Given the description of an element on the screen output the (x, y) to click on. 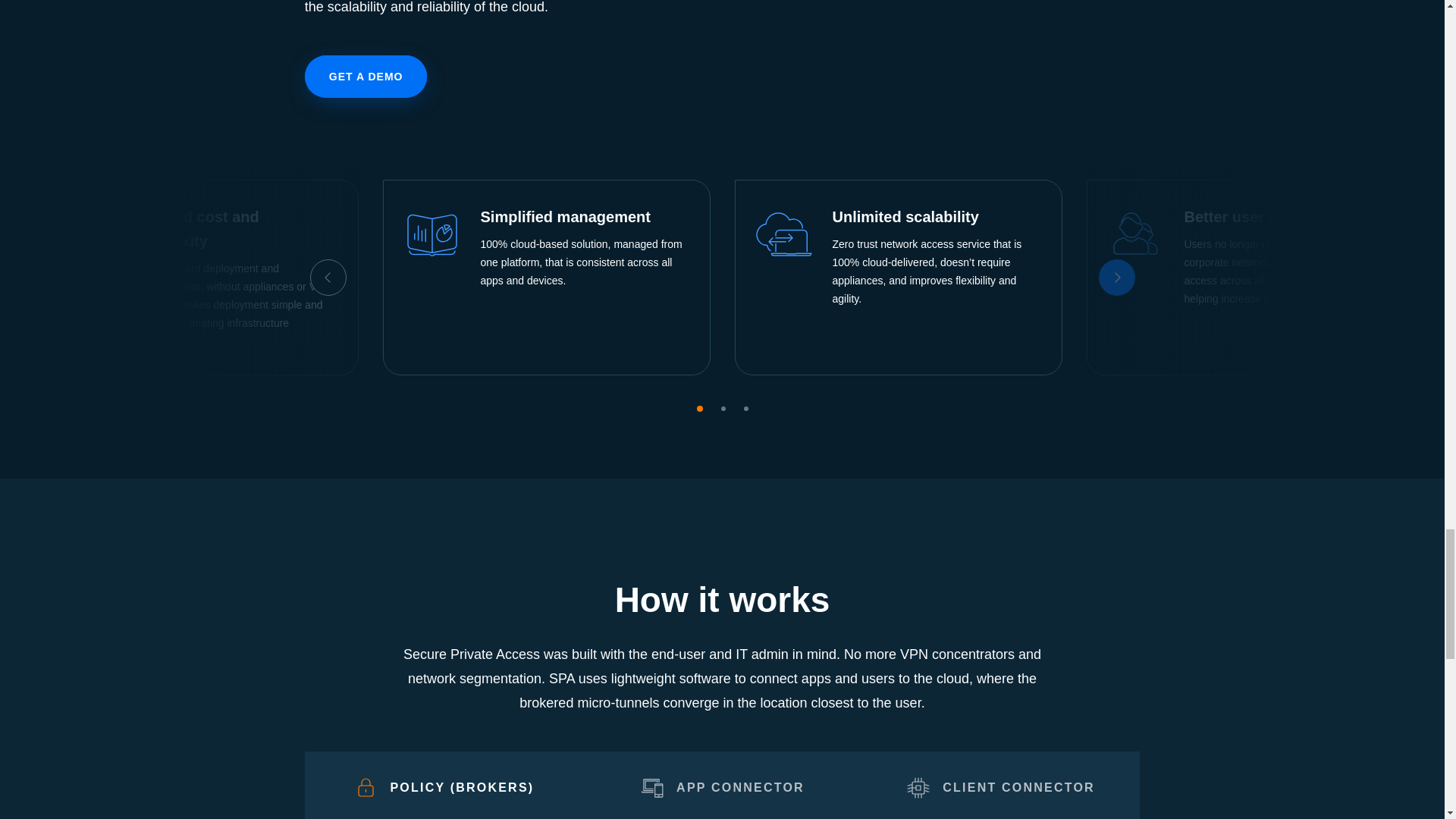
Client Connector (917, 786)
APP CONNECTOR (722, 785)
App Connector (651, 786)
GET A DEMO (366, 76)
CLIENT CONNECTOR (1000, 785)
